Given the description of an element on the screen output the (x, y) to click on. 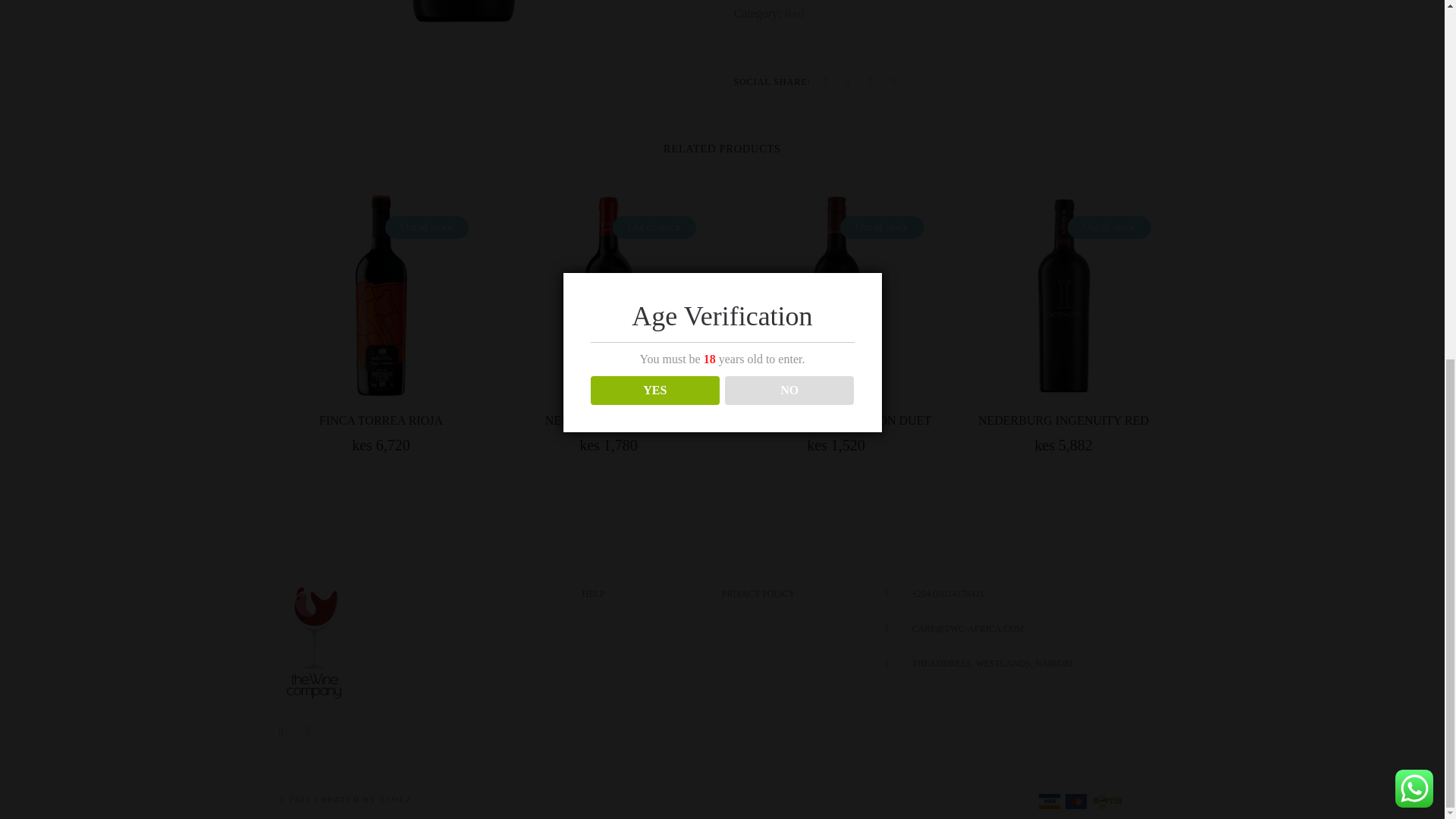
Share this post on Pinterest (847, 81)
Share this post on WhatsApp (870, 81)
Share this post on Facebook (824, 81)
Share this post via Email (893, 81)
